Given the description of an element on the screen output the (x, y) to click on. 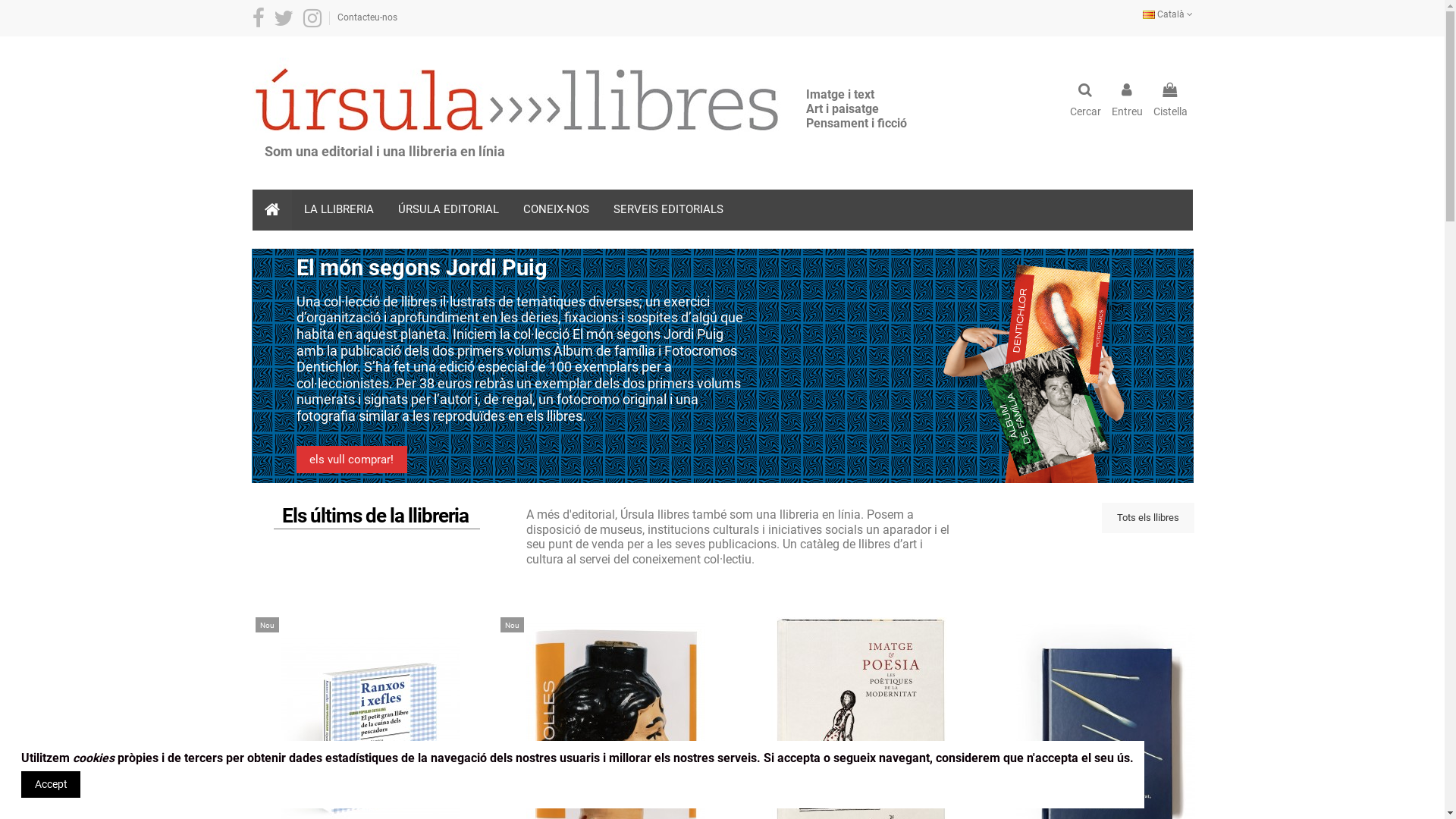
CONEIX-NOS Element type: text (556, 209)
Entreu Element type: text (1126, 100)
Cistella Element type: text (1169, 100)
Contacteu-nos Element type: text (367, 17)
LA LLIBRERIA Element type: text (338, 209)
Accept Element type: text (50, 784)
Tots els llibres Element type: text (1147, 517)
SERVEIS EDITORIALS Element type: text (667, 209)
Cercar Element type: text (1084, 100)
